Given the description of an element on the screen output the (x, y) to click on. 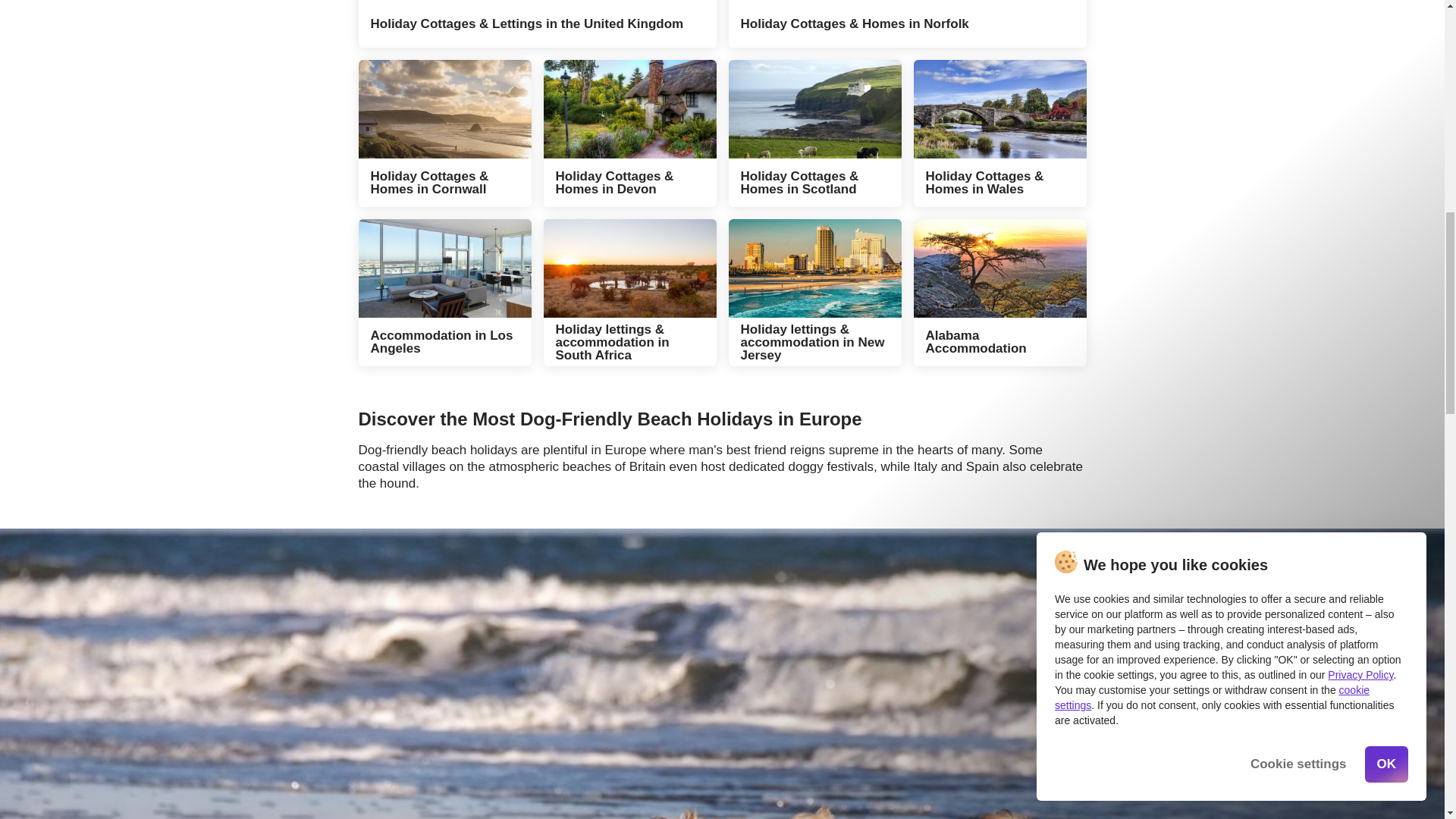
Alabama Accommodation (999, 292)
Accommodation in Los Angeles (444, 292)
